Given the description of an element on the screen output the (x, y) to click on. 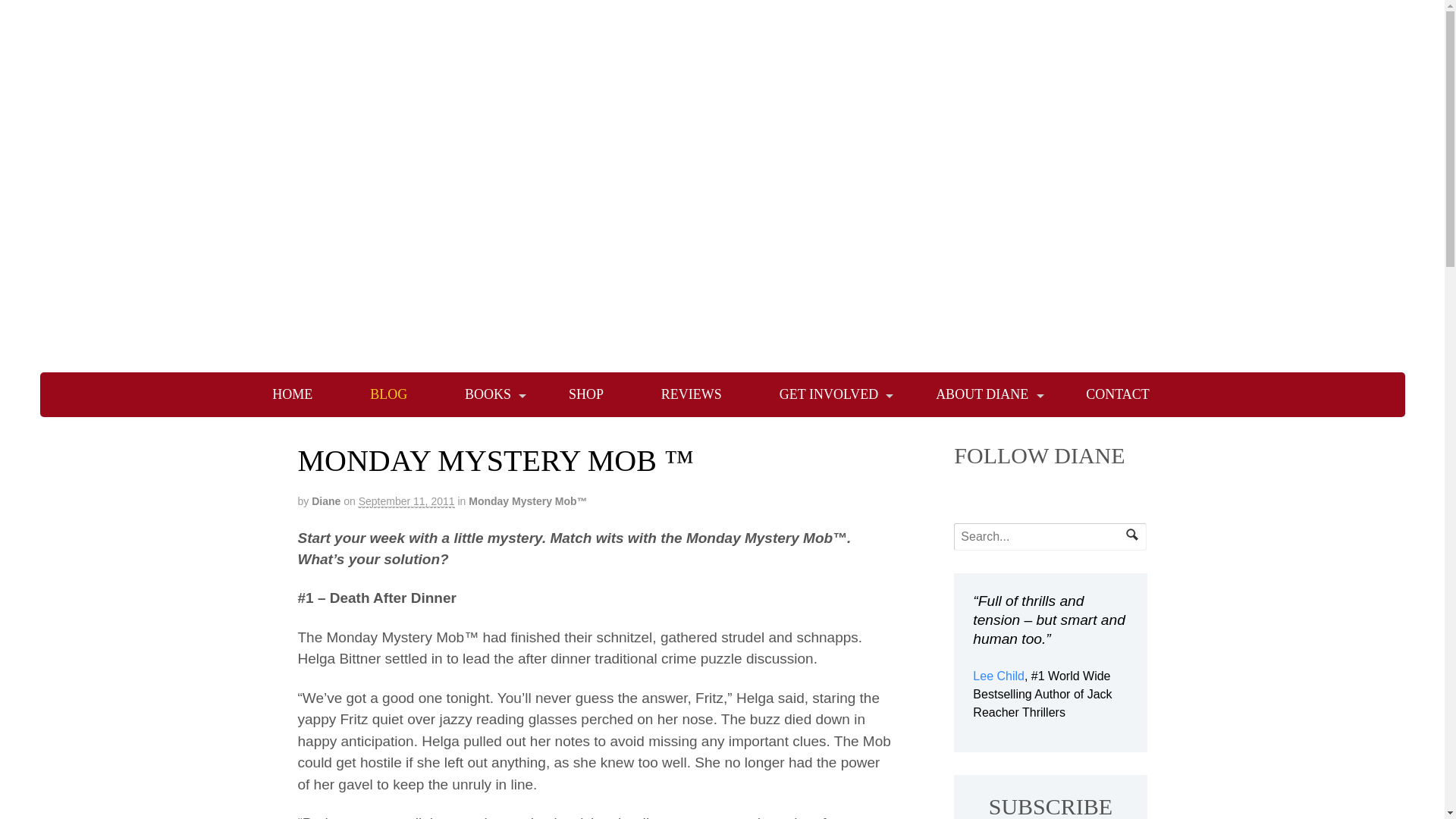
2011-09-11T20:52:52-0400 (406, 501)
Search... (1042, 536)
BLOG (387, 394)
BOOKS (488, 394)
SHOP (585, 394)
REVIEWS (691, 394)
HOME (291, 394)
Diane (325, 500)
ABOUT DIANE (981, 394)
GET INVOLVED (828, 394)
